Given the description of an element on the screen output the (x, y) to click on. 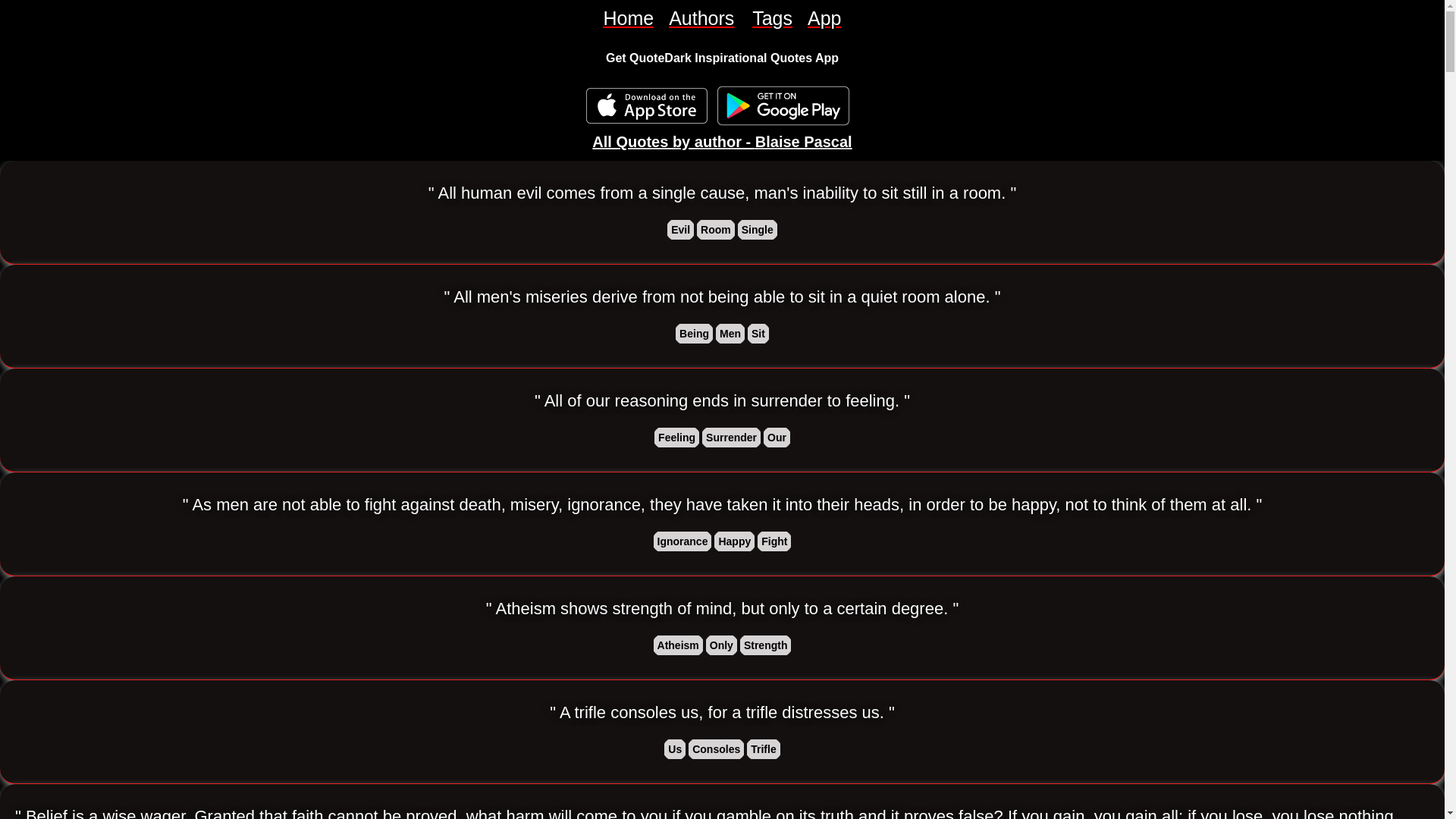
Strength (765, 644)
" All of our reasoning ends in surrender to feeling. " (722, 401)
Fight (773, 540)
Single (757, 229)
Room (715, 229)
Only (721, 644)
Home (627, 18)
Our (776, 436)
